Given the description of an element on the screen output the (x, y) to click on. 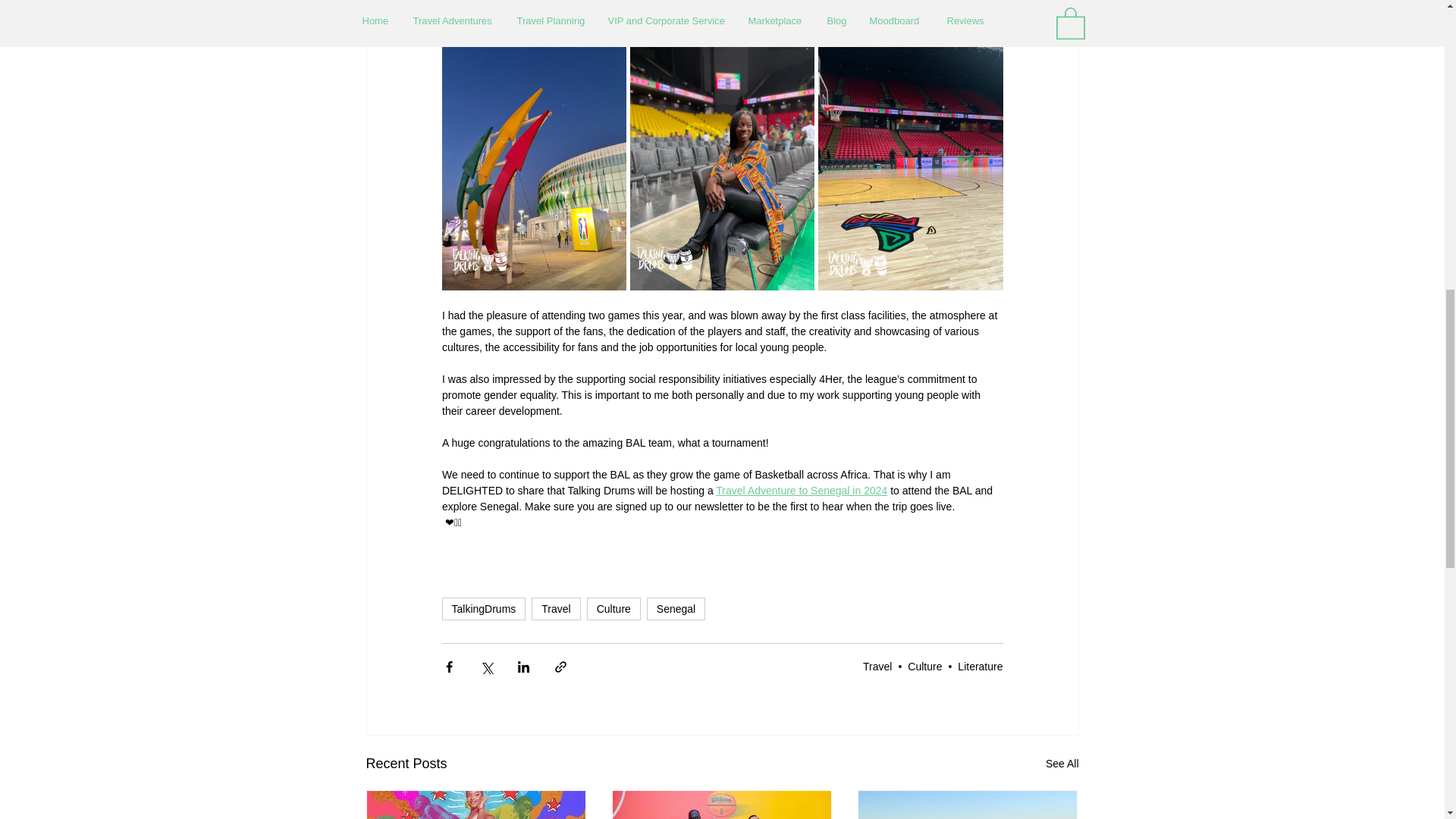
TalkingDrums (483, 608)
Culture (924, 666)
See All (1061, 763)
Travel (555, 608)
Travel Adventure to Senegal in 2024 (801, 490)
Literature (980, 666)
Senegal (675, 608)
Travel (877, 666)
Culture (613, 608)
